Given the description of an element on the screen output the (x, y) to click on. 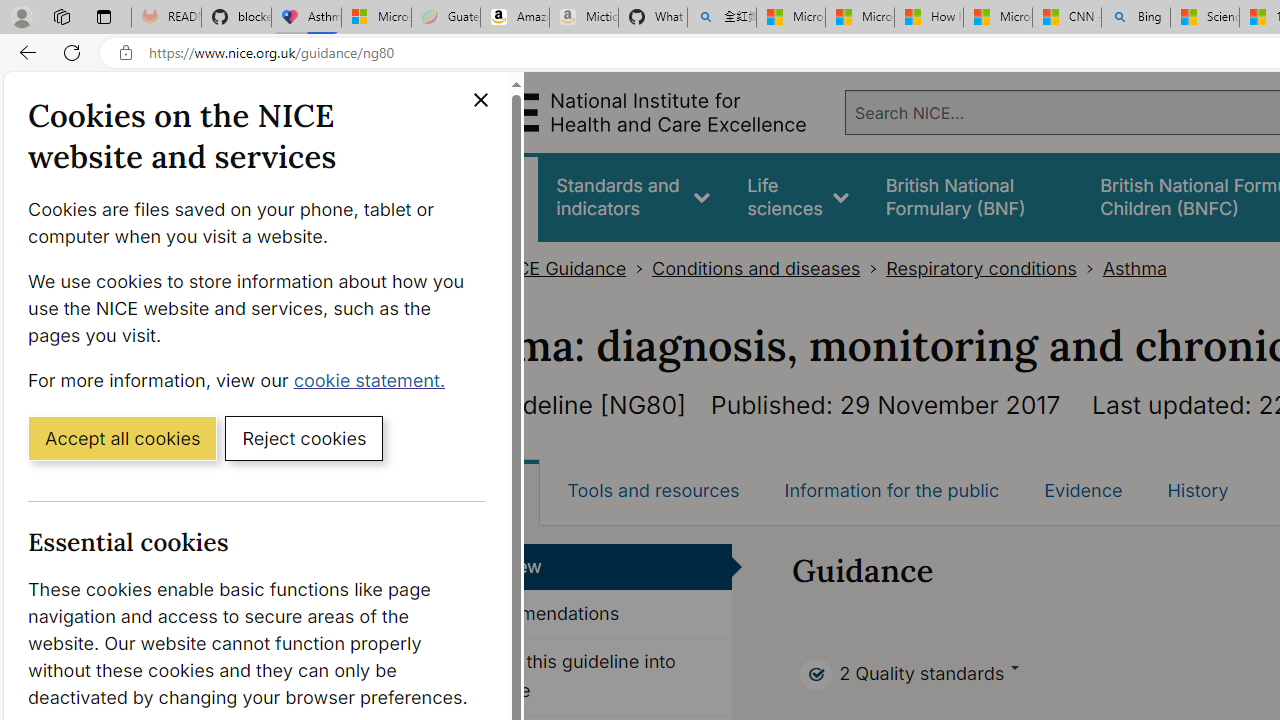
Information for the public (891, 490)
Close cookie banner (480, 99)
Recommendations (588, 615)
Asthma (1134, 268)
Evidence (1083, 490)
Respiratory conditions> (994, 268)
